Given the description of an element on the screen output the (x, y) to click on. 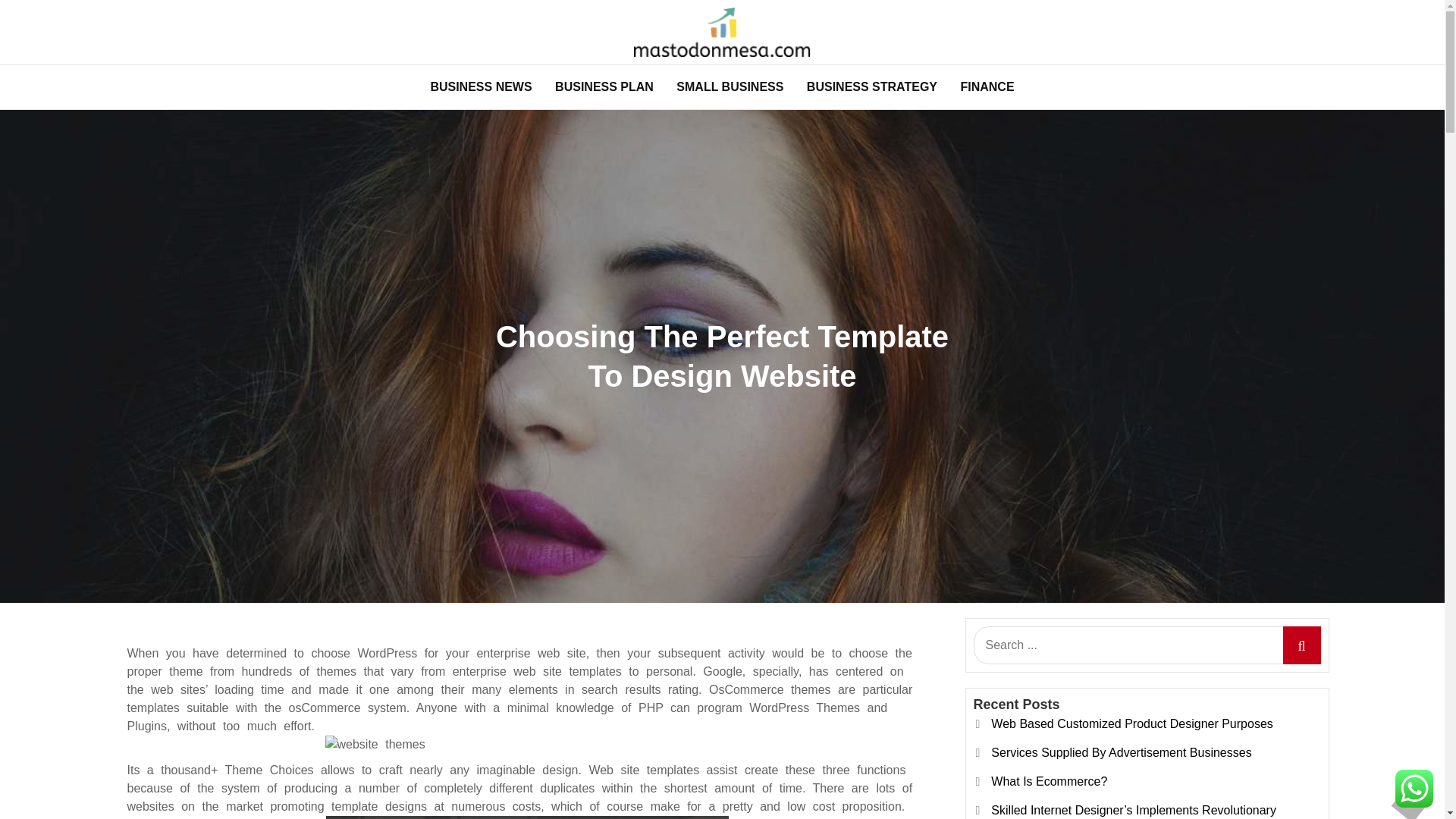
Search for: (1147, 645)
Services Supplied By Advertisement Businesses (1120, 752)
FINANCE (986, 86)
Search (1301, 645)
SMALL BUSINESS (729, 86)
MM (220, 77)
BUSINESS NEWS (480, 86)
BUSINESS STRATEGY (871, 86)
Web Based Customized Product Designer Purposes (1131, 723)
What Is Ecommerce? (1048, 780)
BUSINESS PLAN (603, 86)
